Given the description of an element on the screen output the (x, y) to click on. 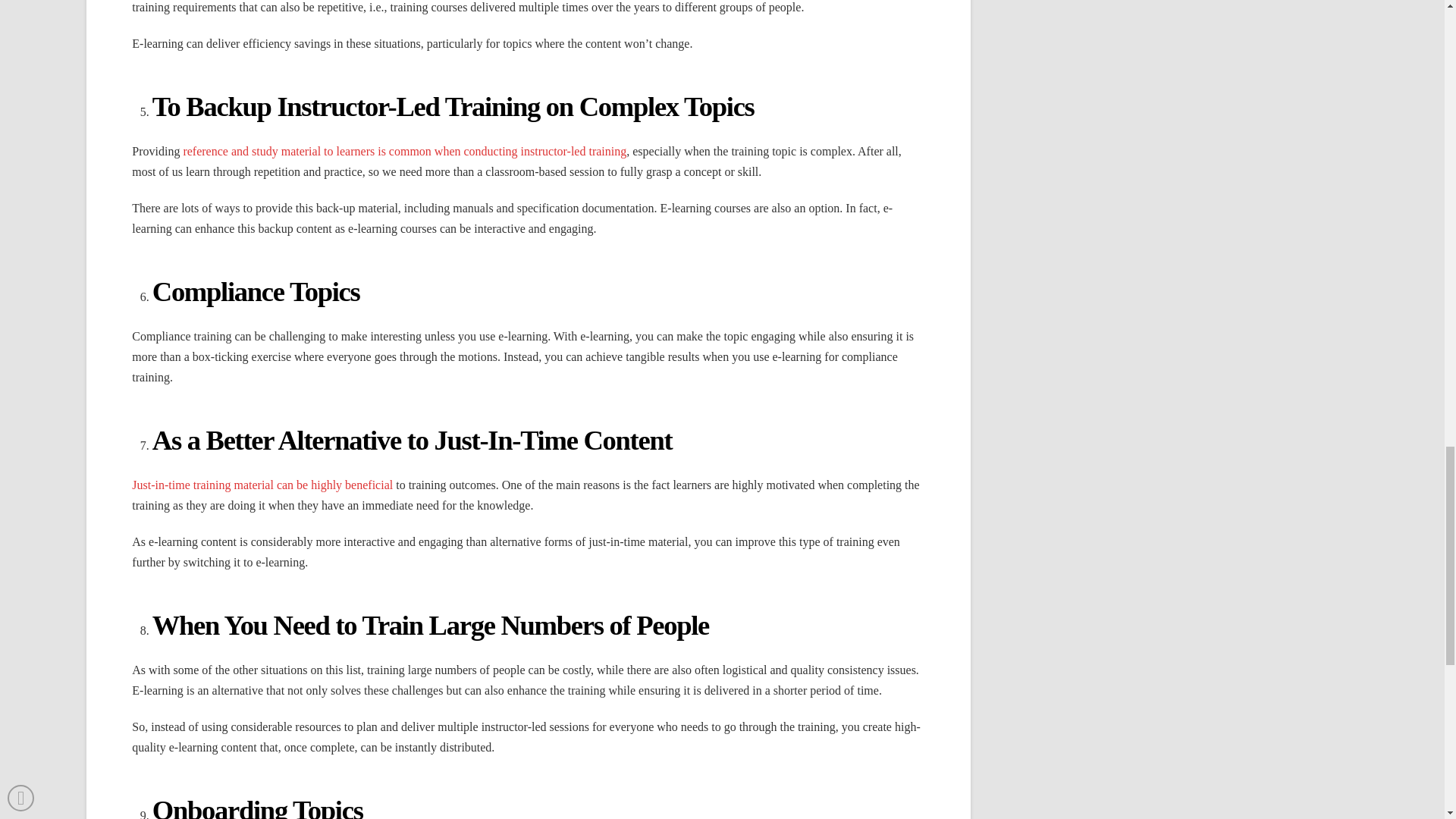
Just-in-time training material can be highly beneficial (262, 484)
